Given the description of an element on the screen output the (x, y) to click on. 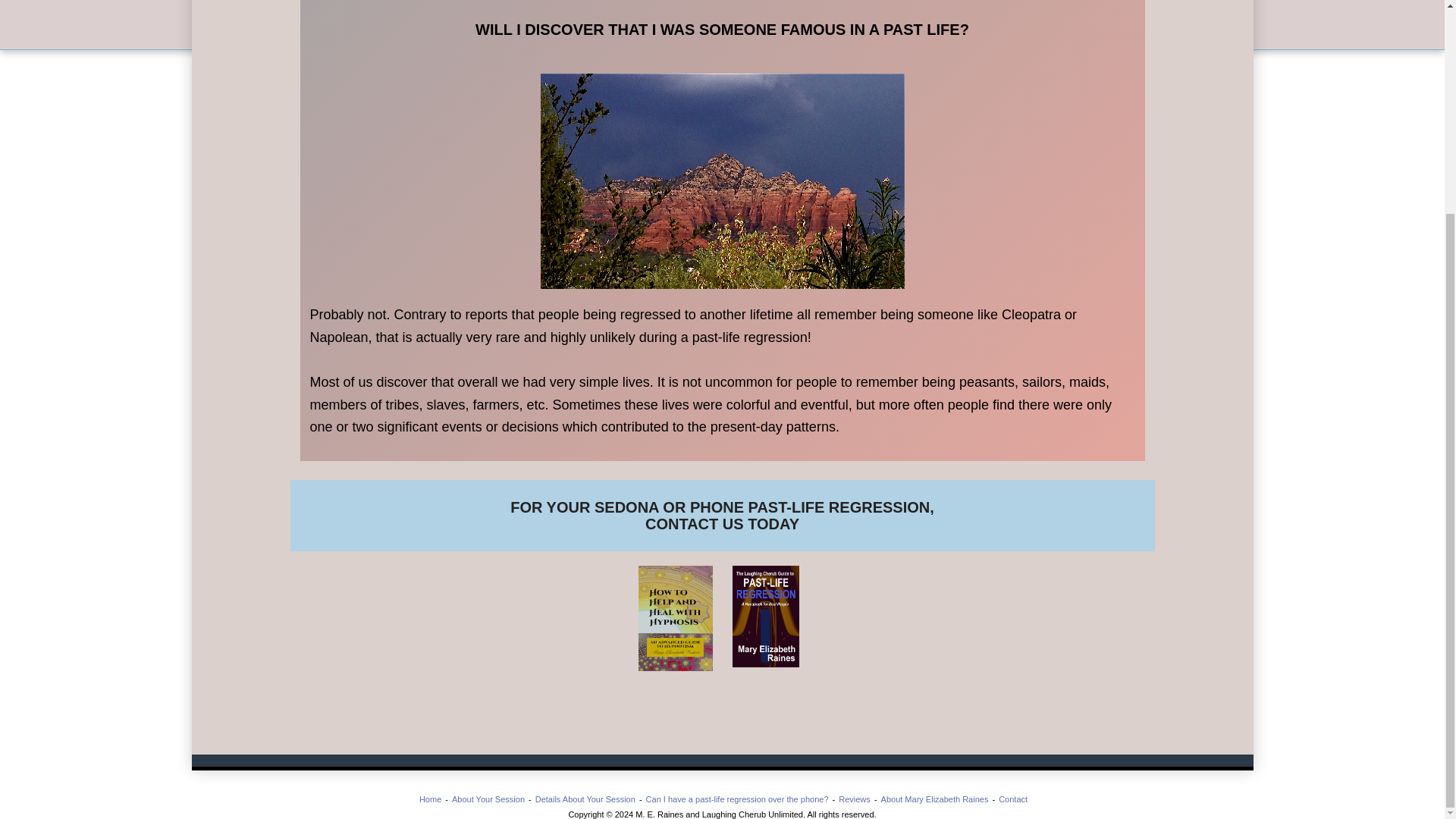
About Mary Elizabeth Raines (934, 798)
FOR YOUR SEDONA OR PHONE PAST-LIFE REGRESSION, (722, 506)
Can I have a past-life regression over the phone? (737, 798)
Contact (1012, 798)
Reviews (854, 798)
About Your Session (487, 798)
Contact (722, 506)
CONTACT US TODAY (722, 523)
Details About Your Session (584, 798)
Home (430, 798)
